Given the description of an element on the screen output the (x, y) to click on. 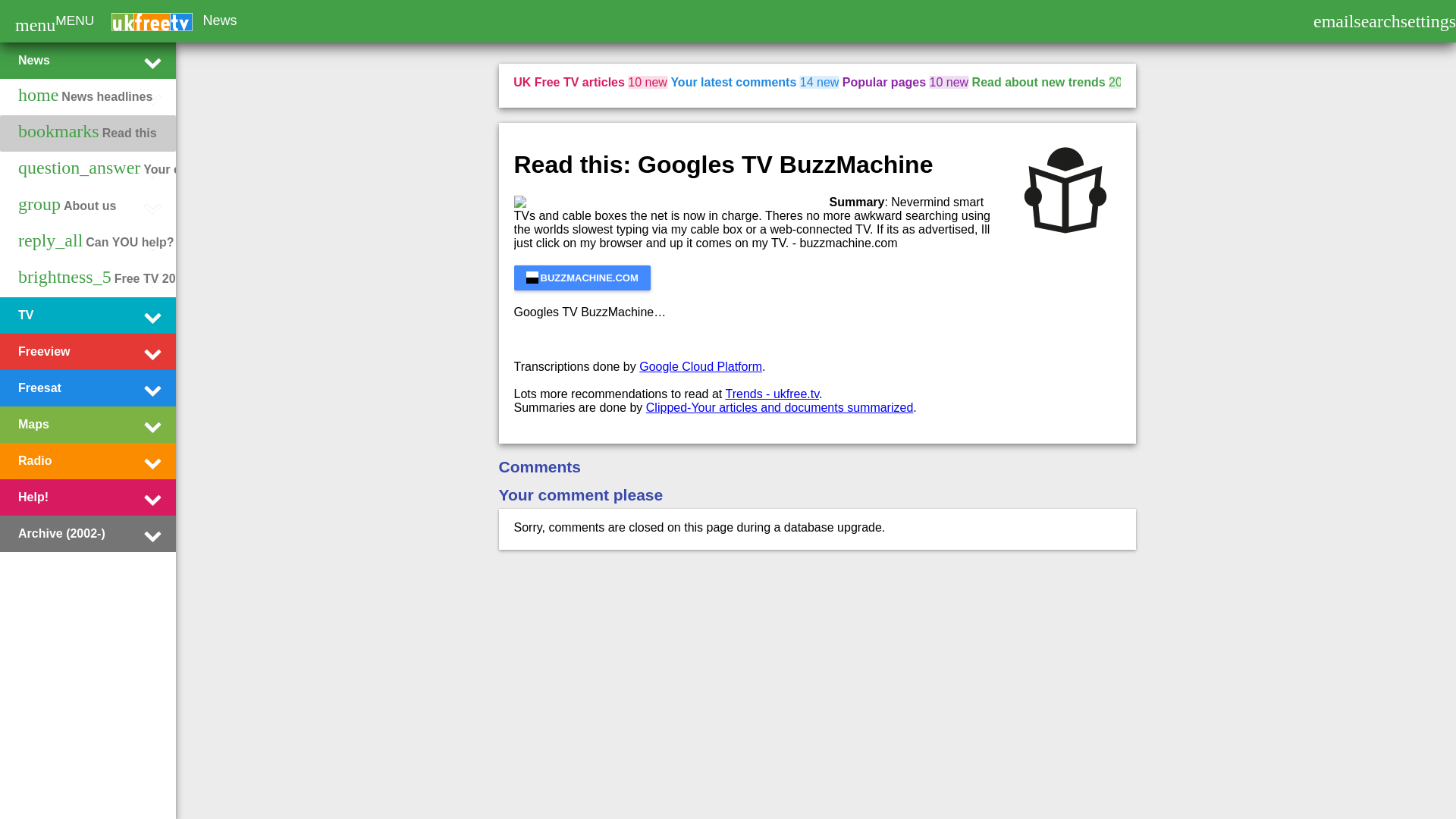
email (1333, 23)
link (581, 277)
homeNews headlines (84, 96)
groupAbout us (66, 205)
menu (34, 24)
MENU (74, 19)
bookmarksRead this (87, 132)
search (1376, 23)
